Given the description of an element on the screen output the (x, y) to click on. 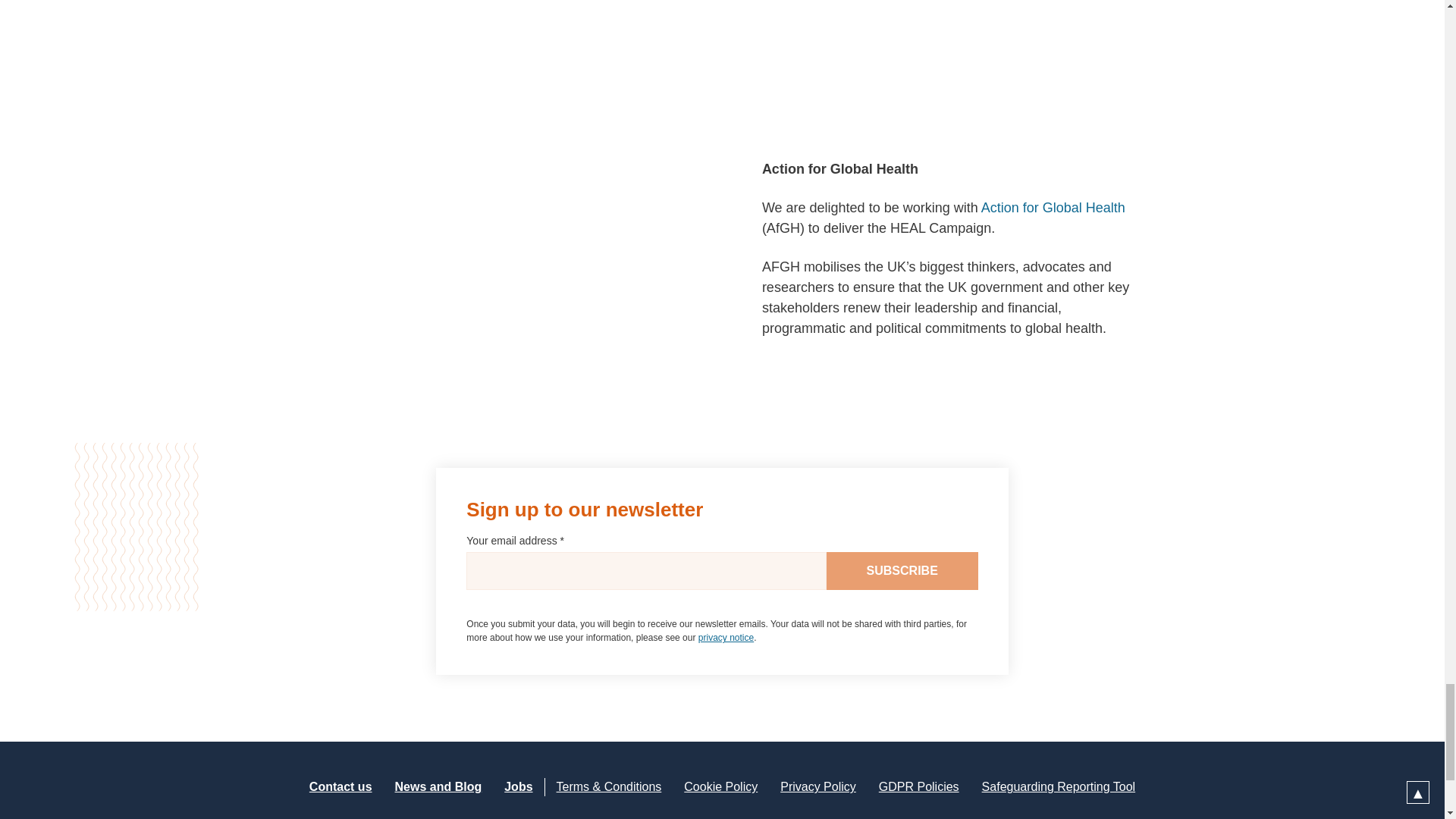
Subscribe (902, 570)
